Given the description of an element on the screen output the (x, y) to click on. 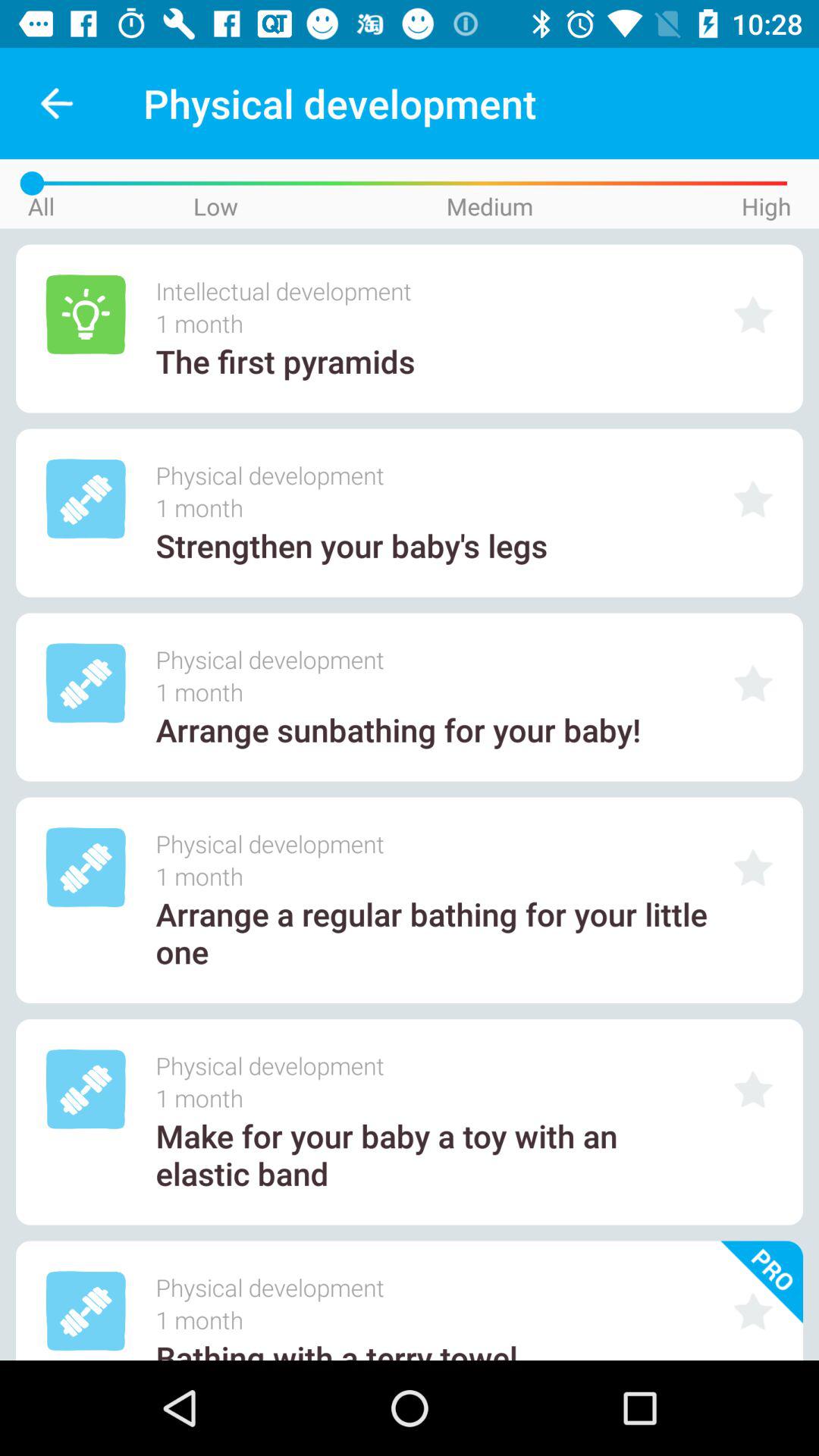
star this option (753, 1311)
